Given the description of an element on the screen output the (x, y) to click on. 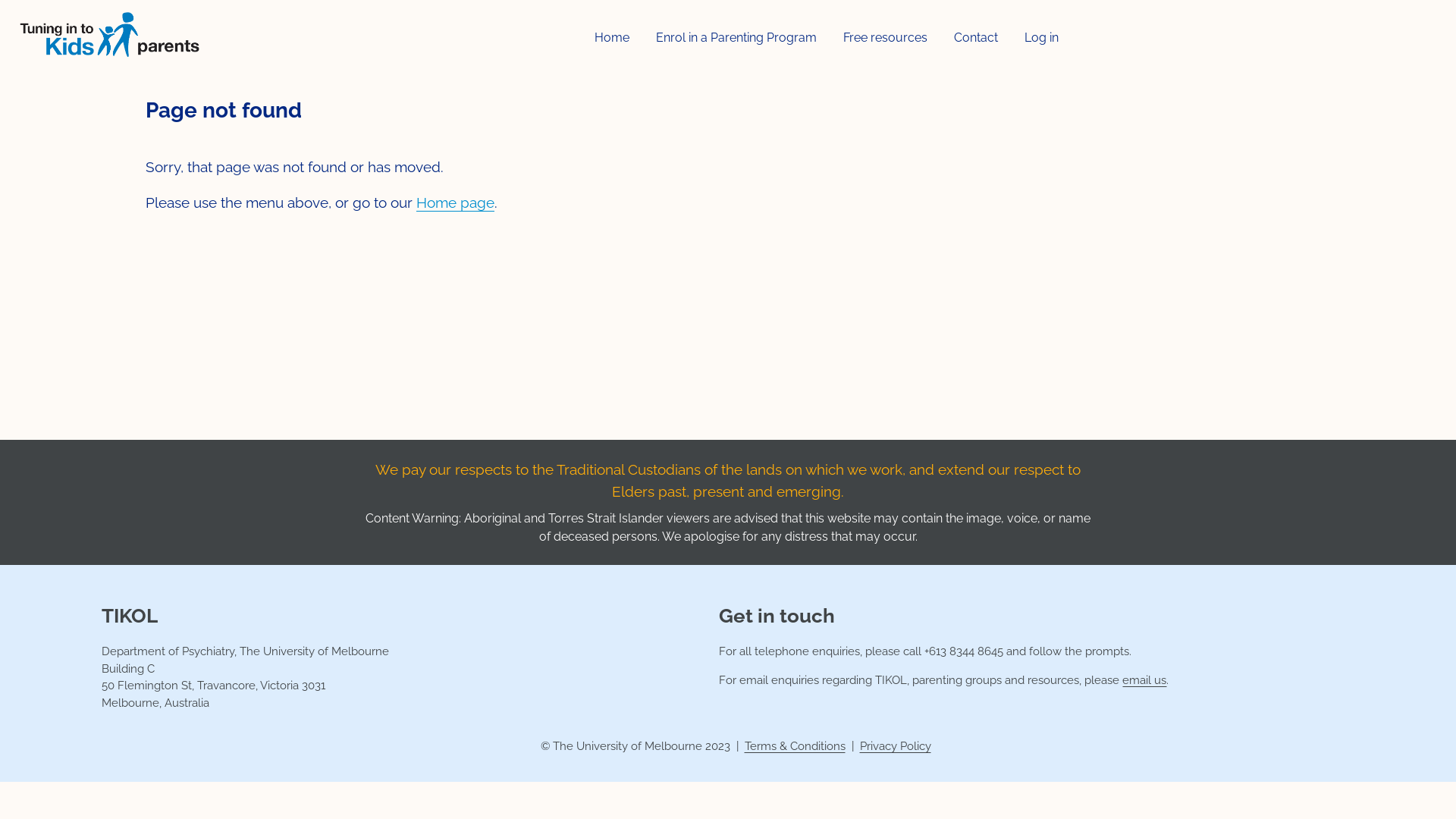
Enrol in a Parenting Program Element type: text (736, 37)
Privacy Policy Element type: text (895, 746)
Home Element type: text (611, 37)
Terms & Conditions Element type: text (794, 746)
Log in Element type: text (1041, 37)
email us Element type: text (1144, 680)
Home page Element type: text (455, 202)
Free resources Element type: text (884, 37)
Contact Element type: text (975, 37)
